Given the description of an element on the screen output the (x, y) to click on. 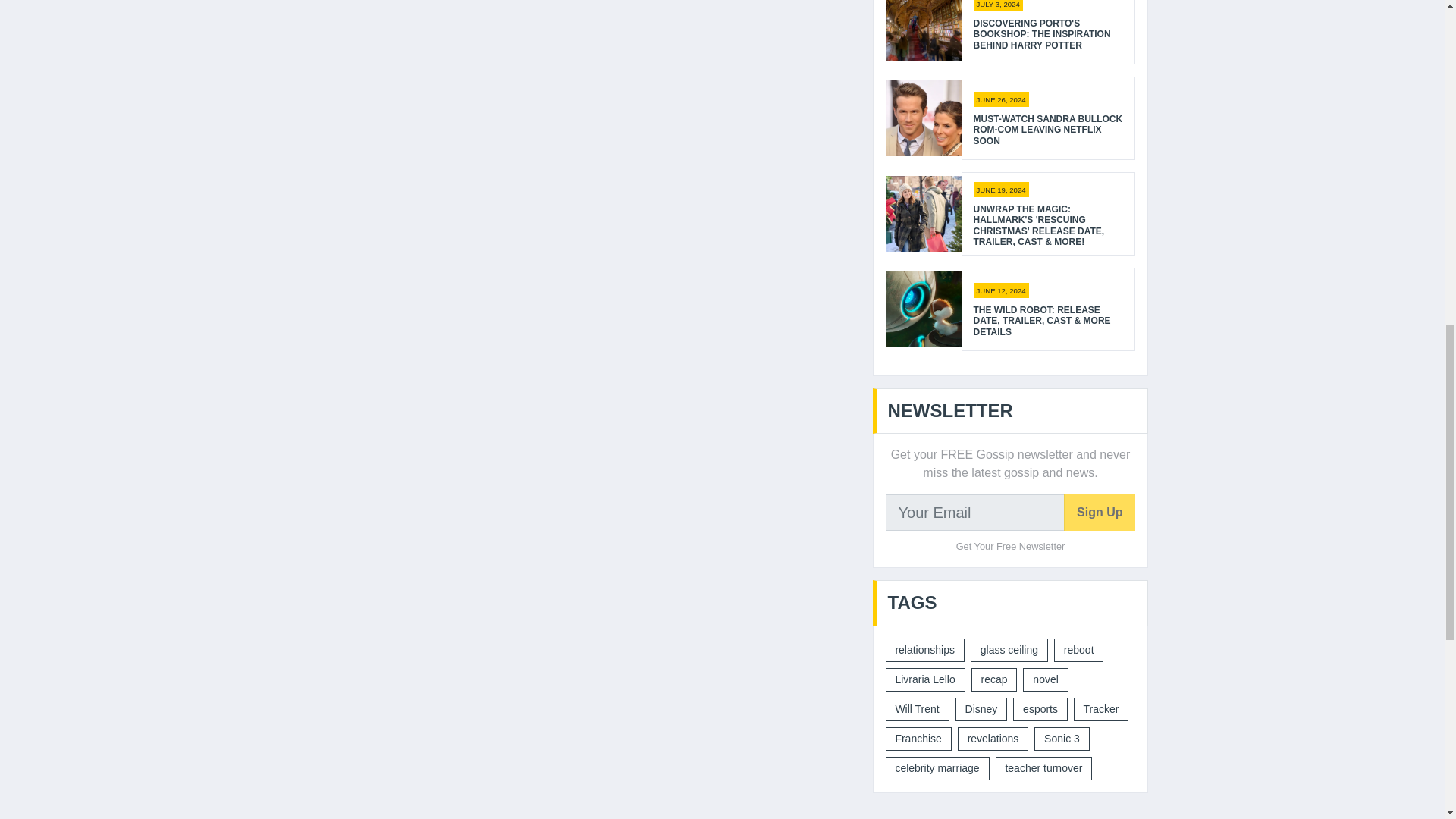
 Franchise  (918, 739)
JUNE 26, 2024 (1001, 99)
 Disney  (981, 709)
 Tracker  (1101, 709)
JUNE 12, 2024 (1001, 290)
JUNE 19, 2024 (1001, 189)
JULY 3, 2024 (998, 5)
Must-Watch Sandra Bullock Rom-Com Leaving Netflix Soon (1048, 129)
 Will Trent  (917, 709)
